Given the description of an element on the screen output the (x, y) to click on. 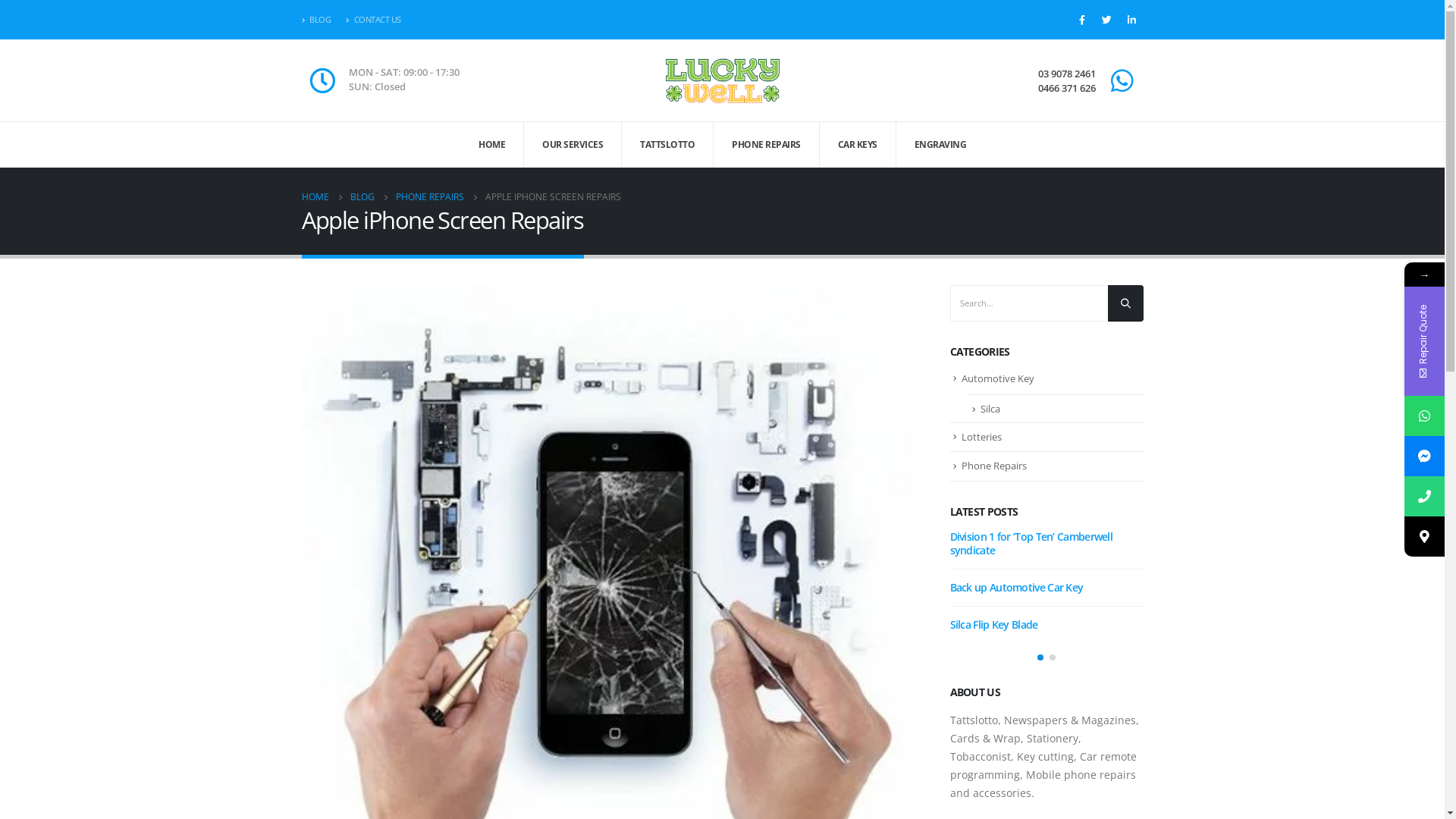
0466 371 626 Element type: text (1066, 87)
03 9078 2461 Element type: text (1066, 73)
Twitter Element type: hover (1106, 19)
Silca Element type: text (989, 408)
Phone Repairs Element type: text (993, 465)
CAR KEYS Element type: text (857, 144)
Silca Flip Key Blade Element type: text (993, 624)
Facebook Element type: hover (1081, 19)
LinkedIn Element type: hover (1131, 19)
OUR SERVICES Element type: text (572, 144)
Lucky Well - 34 Division 1 Winners Element type: hover (722, 80)
PHONE REPAIRS Element type: text (429, 197)
luckywellcamberwell Element type: hover (1424, 456)
+61466371626 Element type: hover (1424, 496)
PHONE REPAIRS Element type: text (766, 144)
BLOG Element type: text (319, 19)
TATTSLOTTO Element type: text (667, 144)
CONTACT US Element type: text (373, 19)
https://goo.gl/maps/6BvXaJ9NPMDQfLmJ7 Element type: hover (1424, 536)
ENGRAVING Element type: text (940, 144)
Back up Automotive Car Key Element type: text (1015, 587)
Automotive Key Element type: text (997, 378)
HOME Element type: text (492, 144)
+0466371626 Element type: hover (1424, 415)
Lotteries Element type: text (981, 436)
BLOG Element type: text (362, 197)
HOME Element type: text (315, 197)
